Given the description of an element on the screen output the (x, y) to click on. 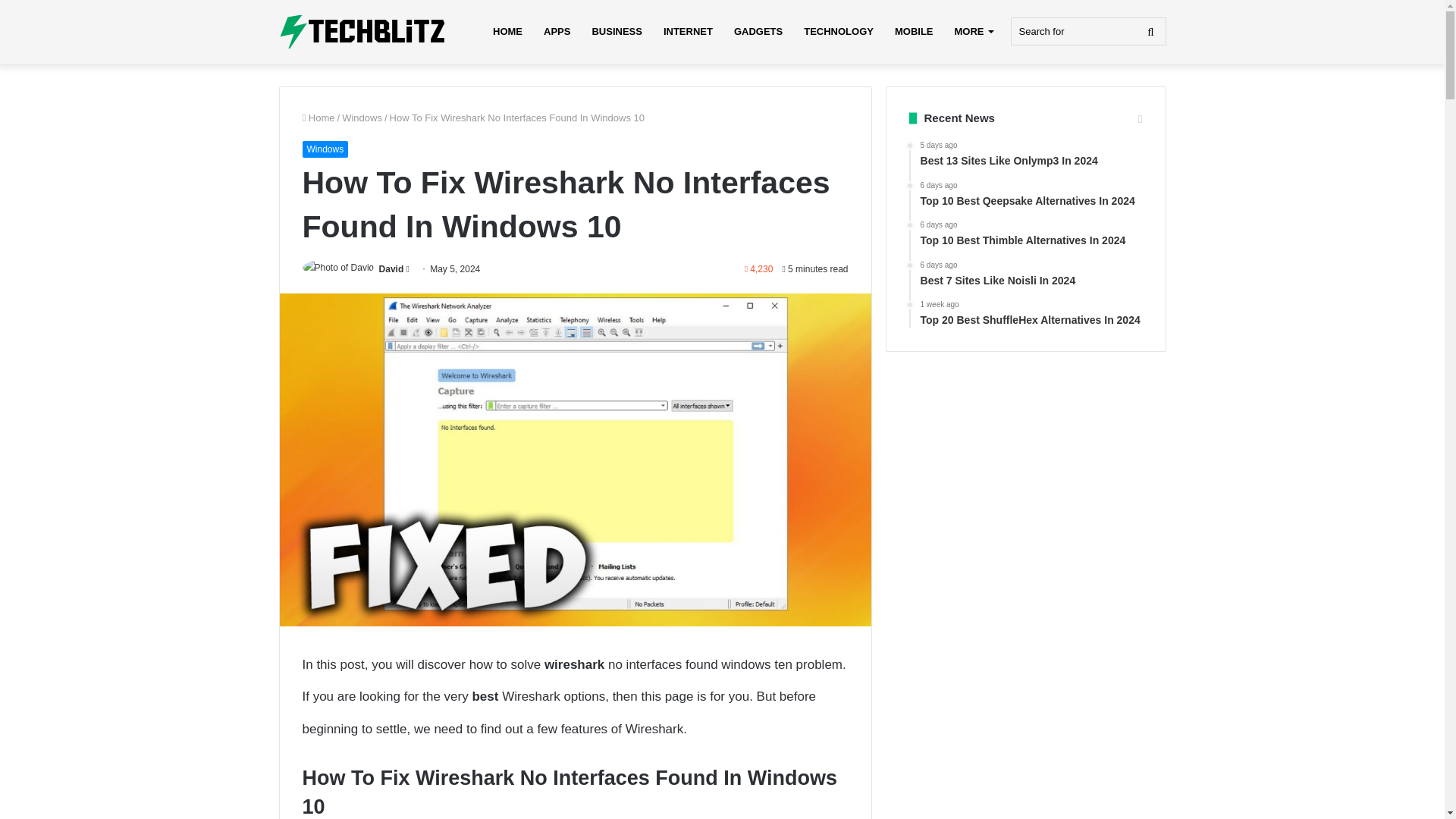
HOME (506, 31)
Windows (361, 117)
MOBILE (913, 31)
David (391, 268)
BUSINESS (616, 31)
APPS (556, 31)
Windows (324, 149)
David (391, 268)
TechBlitz (362, 31)
Home (317, 117)
INTERNET (687, 31)
TECHNOLOGY (838, 31)
MORE (973, 31)
Search for (1088, 31)
